Given the description of an element on the screen output the (x, y) to click on. 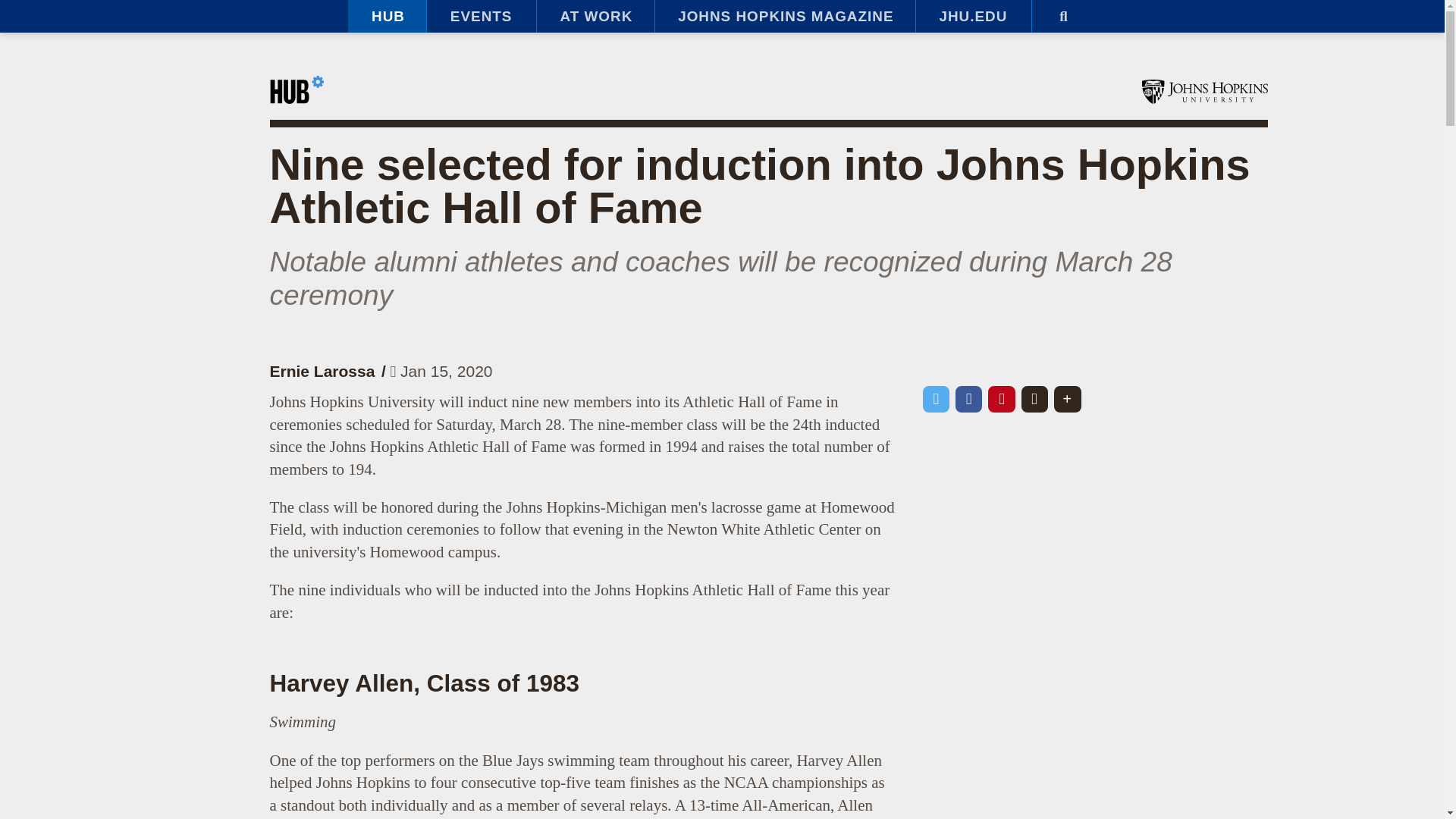
EVENTS (480, 16)
JHU.EDU (972, 16)
JOHNS HOPKINS MAGAZINE (784, 16)
HUB (386, 16)
Johns Hopkins University (1204, 91)
AT WORK (594, 16)
